Given the description of an element on the screen output the (x, y) to click on. 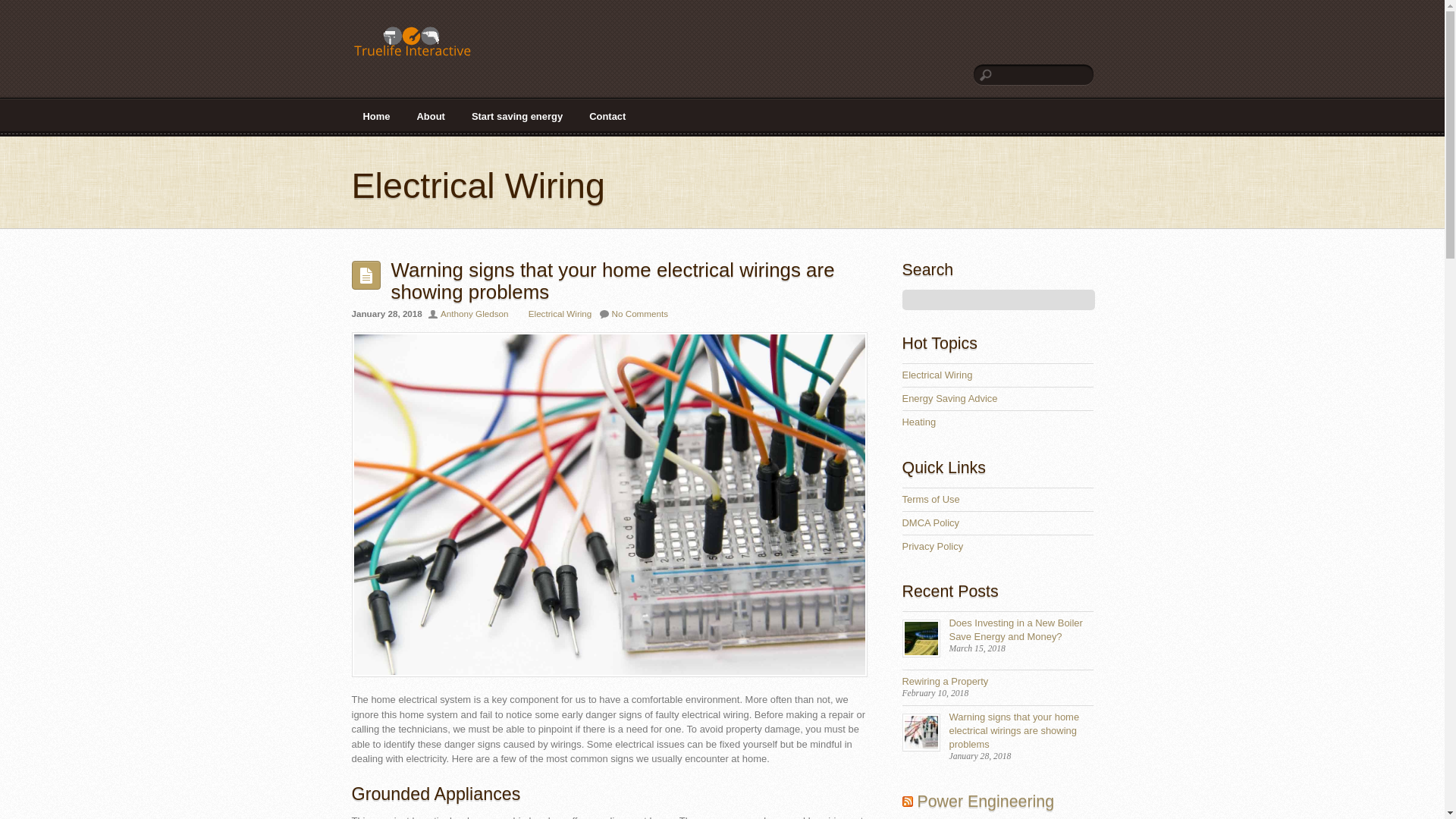
Does Investing in a New Boiler Save Energy and Money? (1016, 629)
Start saving energy (516, 116)
Privacy Policy (932, 546)
Energy Saving Advice (949, 398)
Truelife Interactive (413, 40)
Truelife Interactive (413, 46)
Home (376, 116)
Rewiring a Property (945, 681)
